Given the description of an element on the screen output the (x, y) to click on. 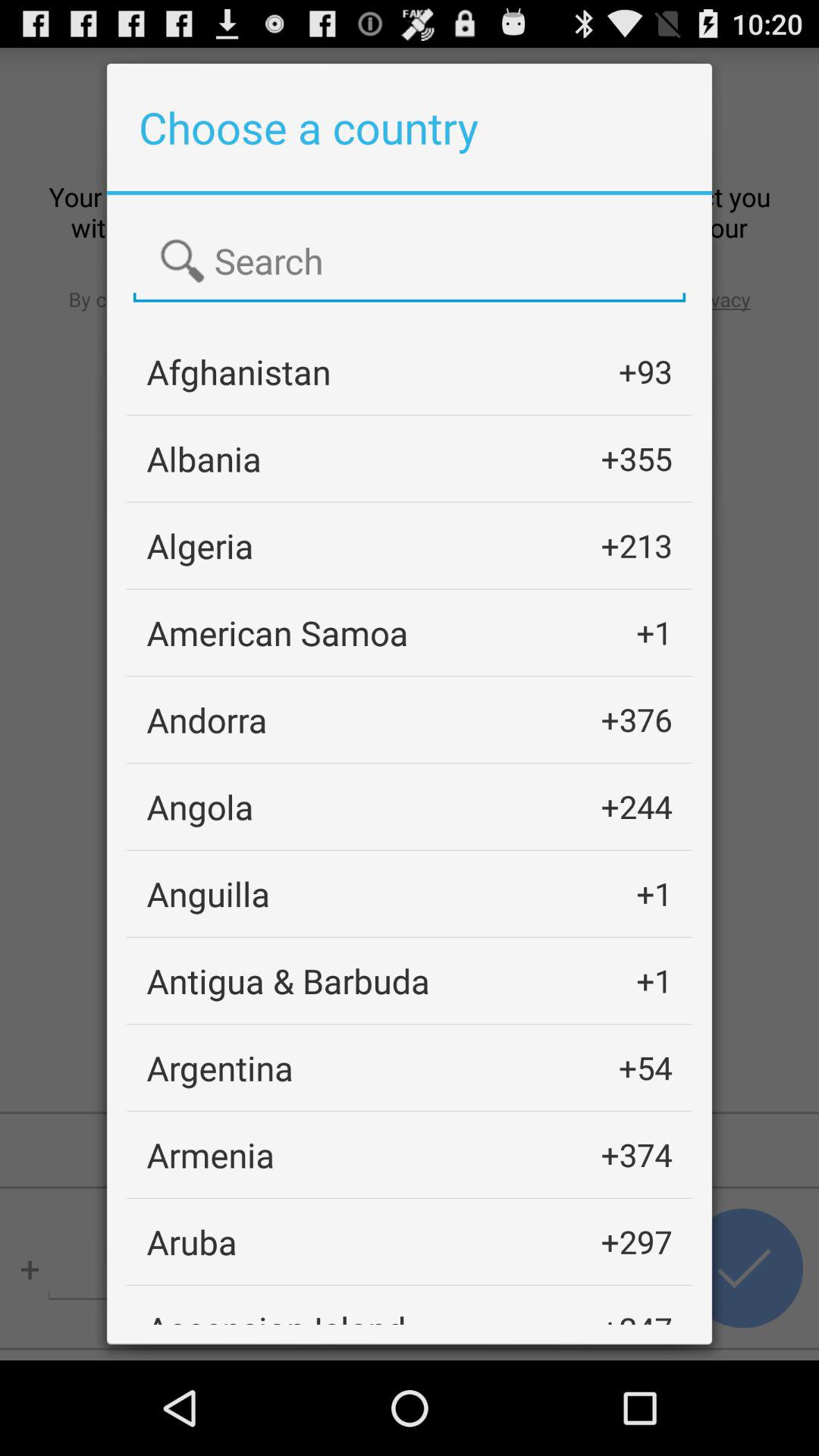
press +376 icon (636, 719)
